Given the description of an element on the screen output the (x, y) to click on. 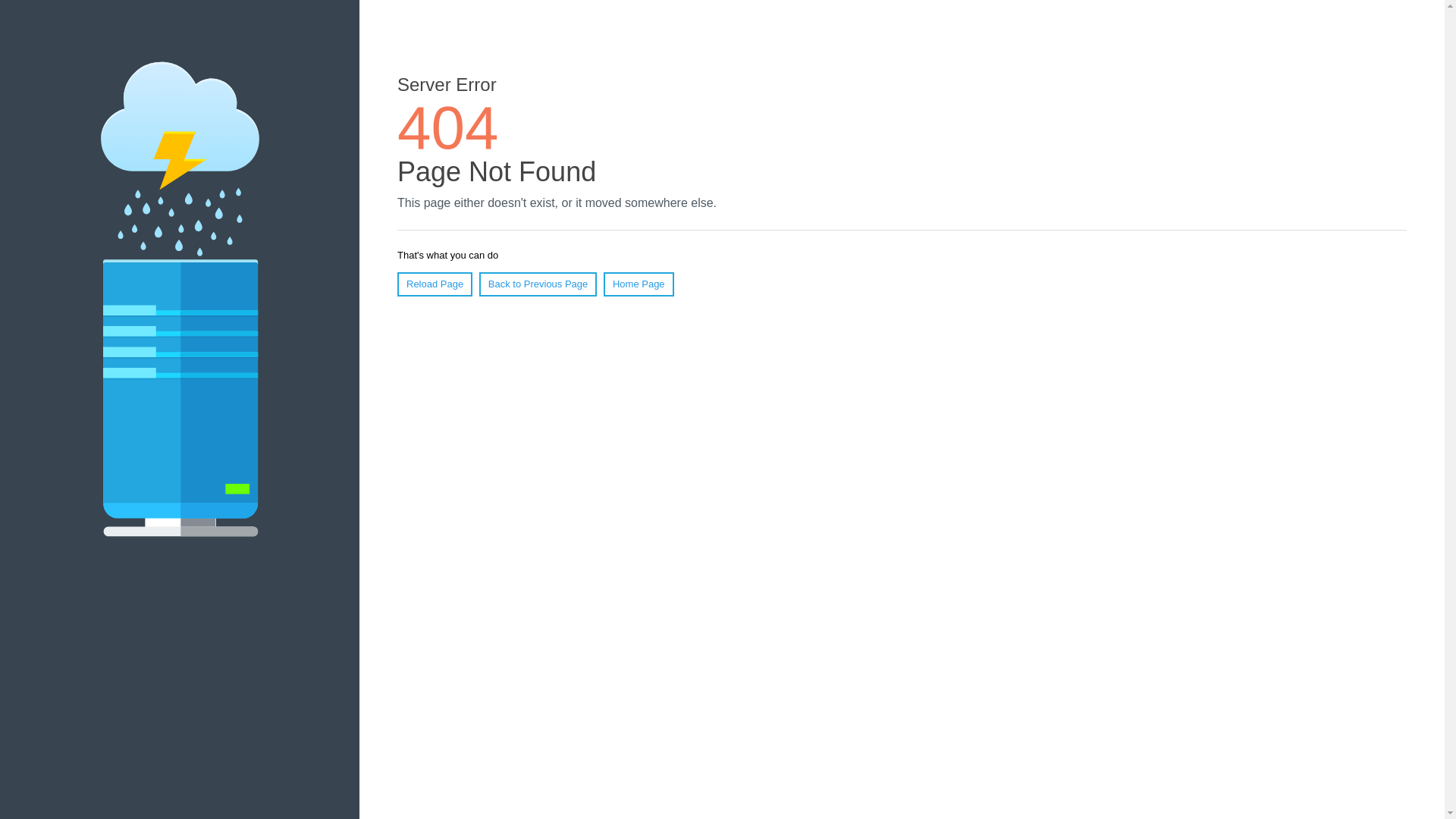
Back to Previous Page Element type: text (538, 284)
Home Page Element type: text (638, 284)
Reload Page Element type: text (434, 284)
